Given the description of an element on the screen output the (x, y) to click on. 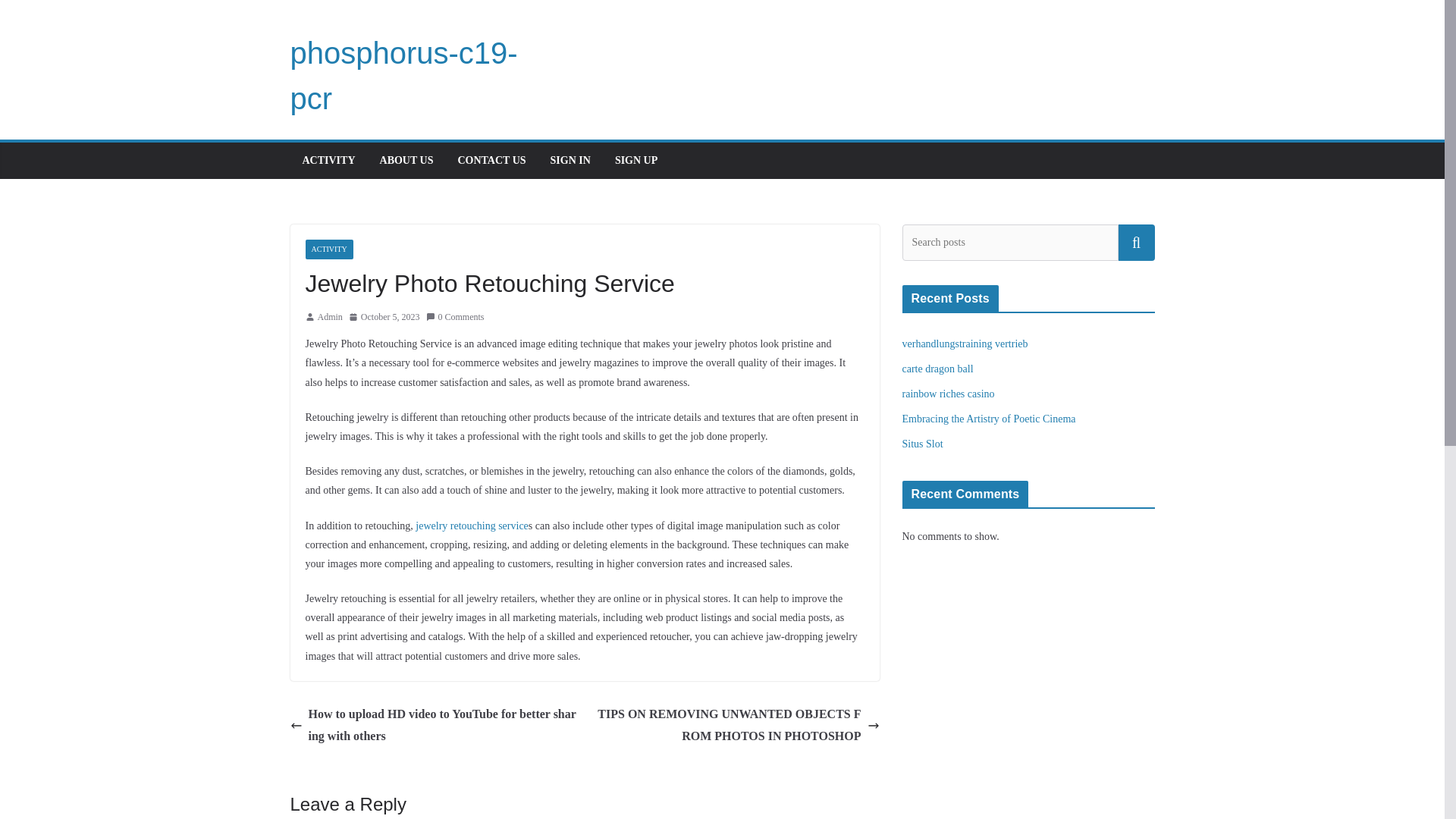
jewelry retouching service (471, 525)
October 5, 2023 (384, 317)
rainbow riches casino (948, 393)
phosphorus-c19-pcr (402, 75)
Admin (329, 317)
verhandlungstraining vertrieb (964, 343)
ACTIVITY (328, 249)
CONTACT US (491, 160)
Embracing the Artistry of Poetic Cinema (988, 419)
